Given the description of an element on the screen output the (x, y) to click on. 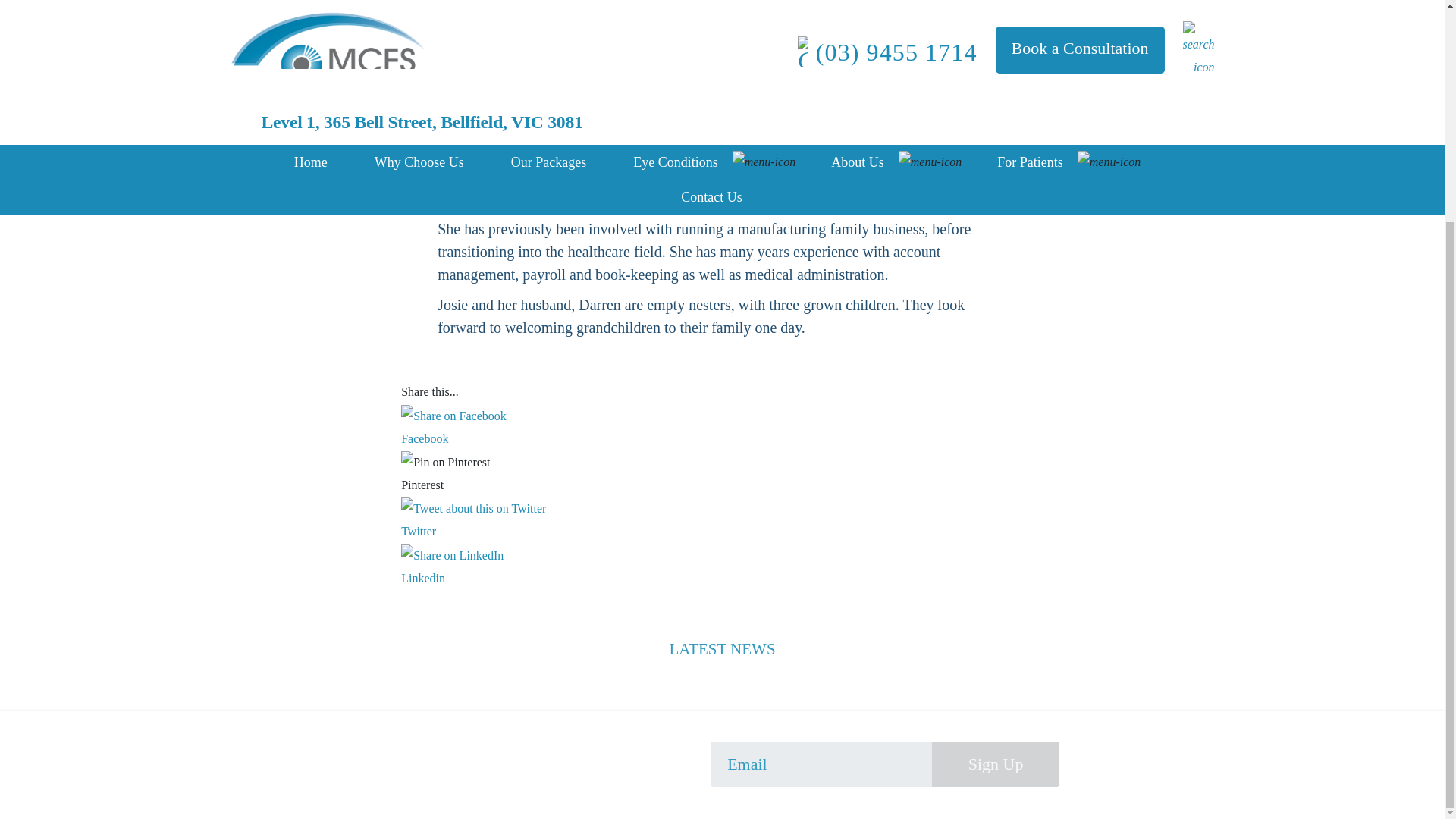
Pinterest (722, 484)
Linkedin (722, 578)
Facebook (722, 438)
LinkedIn (452, 555)
Pinterest (722, 485)
Twitter (473, 508)
Sign Up (995, 764)
Linkedin (722, 567)
Facebook (722, 436)
Facebook (453, 415)
